Given the description of an element on the screen output the (x, y) to click on. 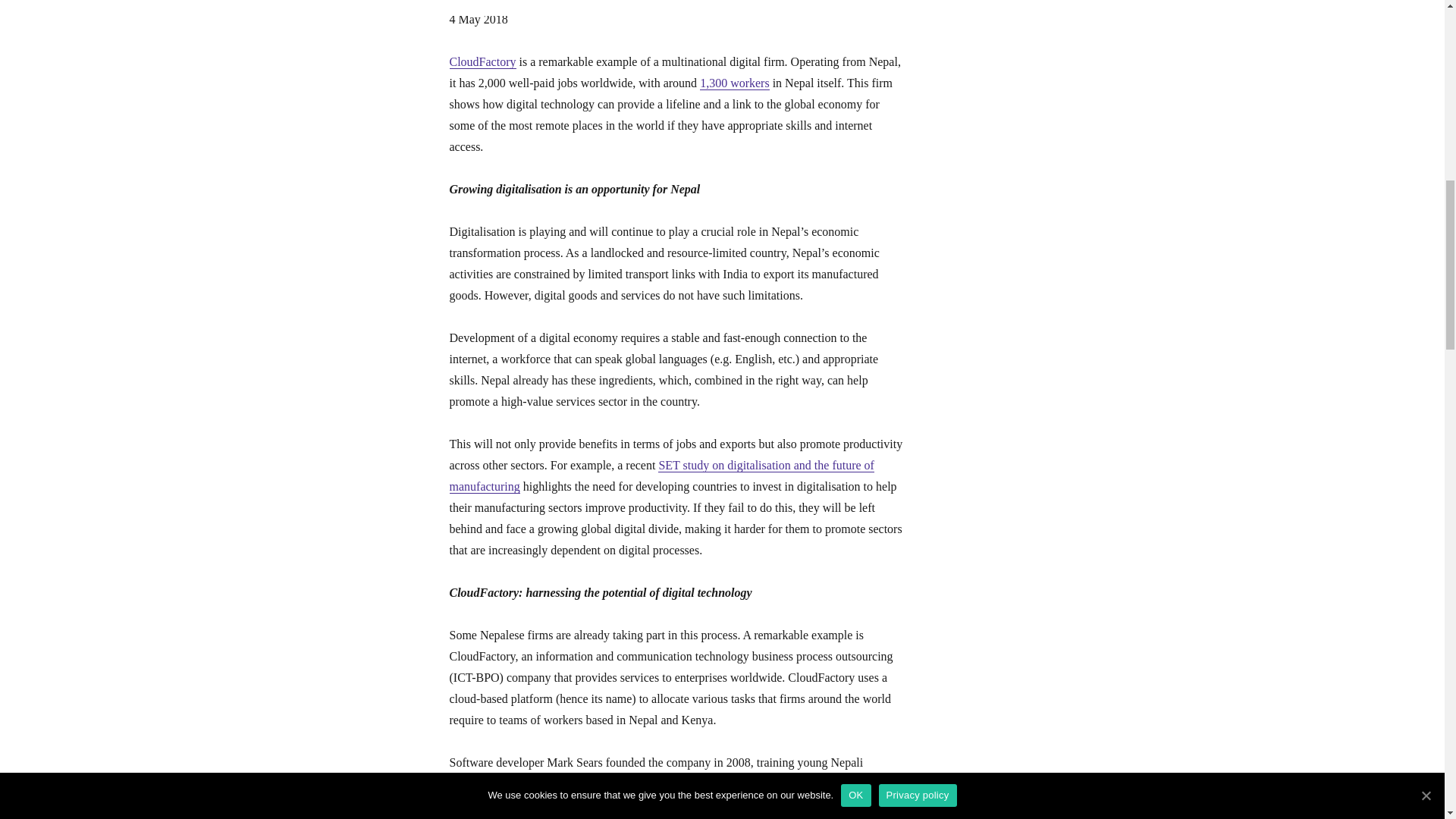
CloudFactory (481, 61)
1,300 workers (735, 82)
SET study on digitalisation and the future of manufacturing (660, 475)
